Given the description of an element on the screen output the (x, y) to click on. 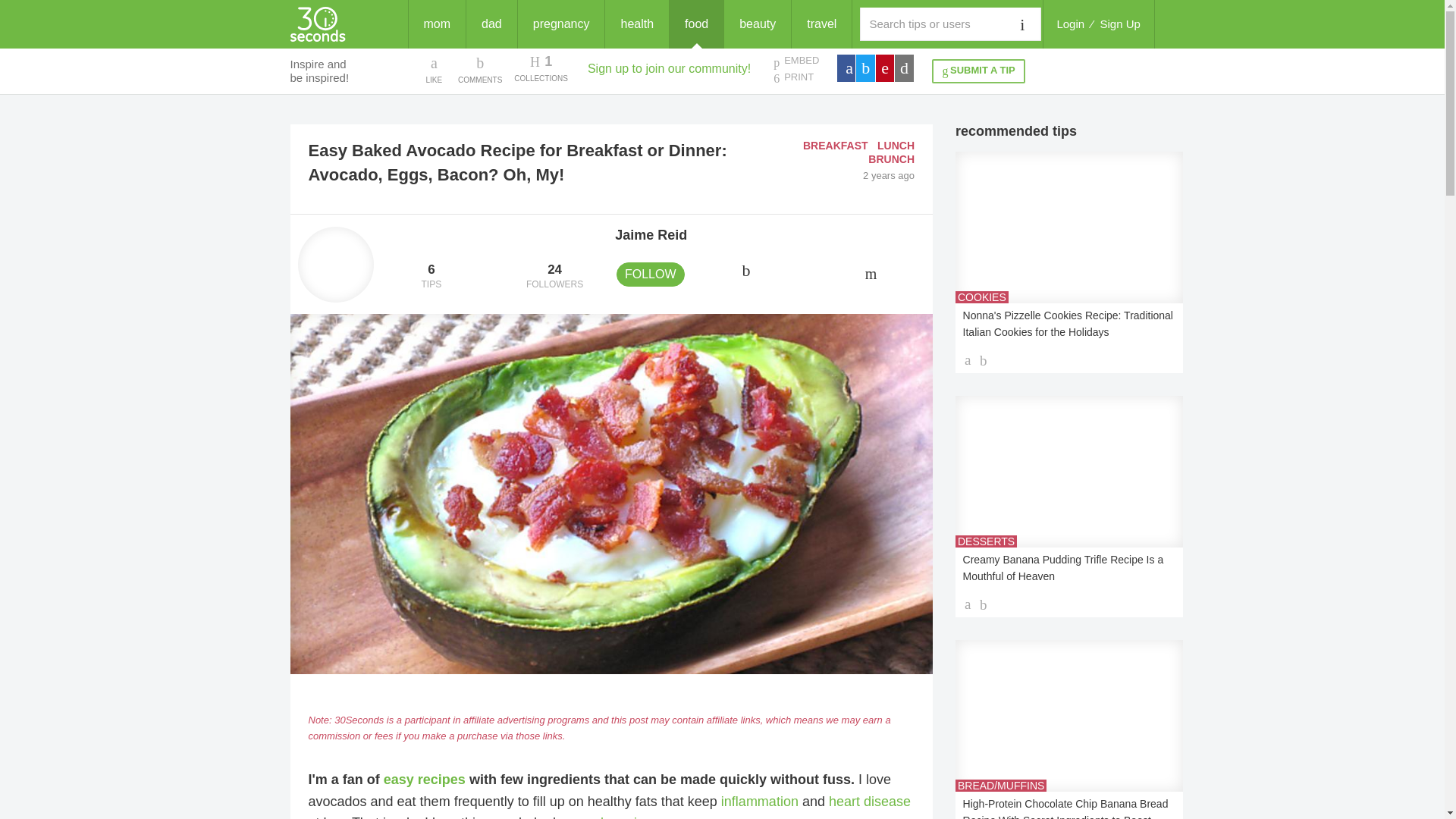
EMBED (795, 61)
Sign Up (1120, 23)
COMMENTS (480, 68)
pregnancy (561, 24)
beauty (756, 24)
Login (1069, 23)
Jaime Reid (651, 235)
Sign up to join our community! (669, 68)
COMMENTS (431, 276)
